Given the description of an element on the screen output the (x, y) to click on. 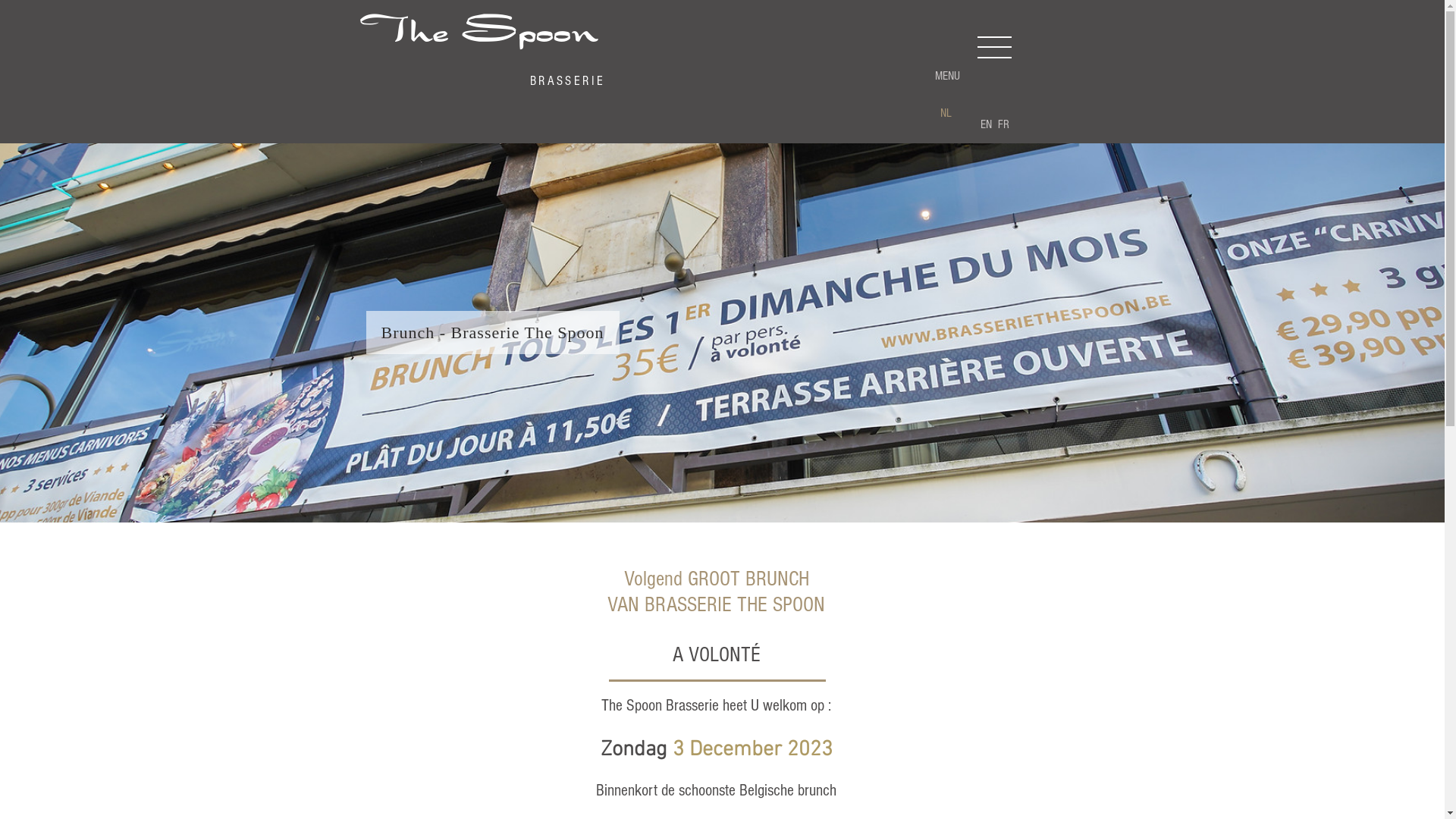
EN Element type: text (985, 124)
FR Element type: text (1002, 124)
NL Element type: text (944, 113)
MENU Element type: text (946, 75)
